Given the description of an element on the screen output the (x, y) to click on. 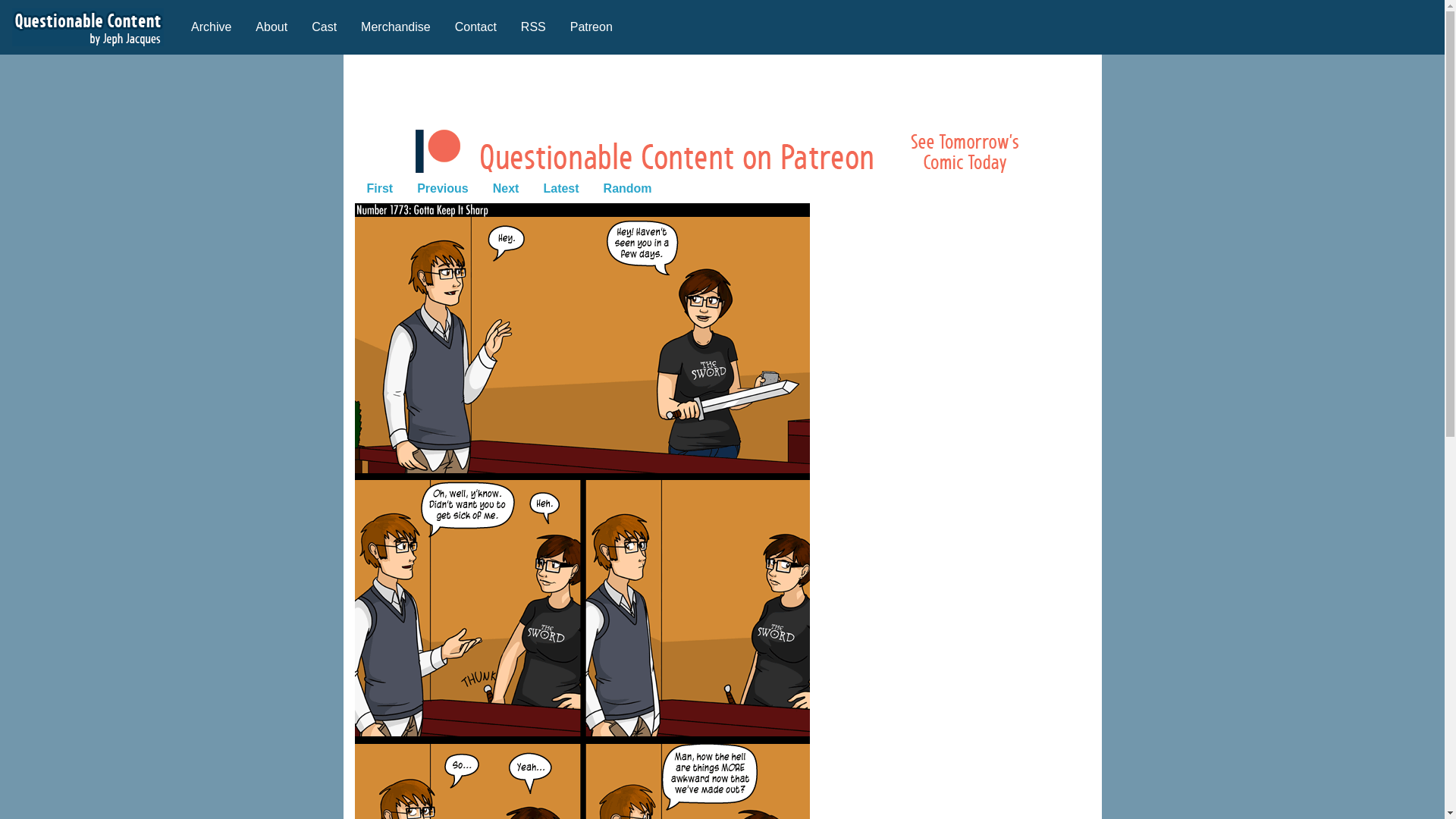
Advertisement (721, 88)
Contact (475, 27)
Previous (442, 187)
Next (505, 187)
Random (627, 187)
Latest (561, 187)
Archive (211, 27)
Patreon (590, 27)
Merchandise (395, 27)
About (271, 27)
Cast (324, 27)
RSS (532, 27)
First (380, 187)
